Given the description of an element on the screen output the (x, y) to click on. 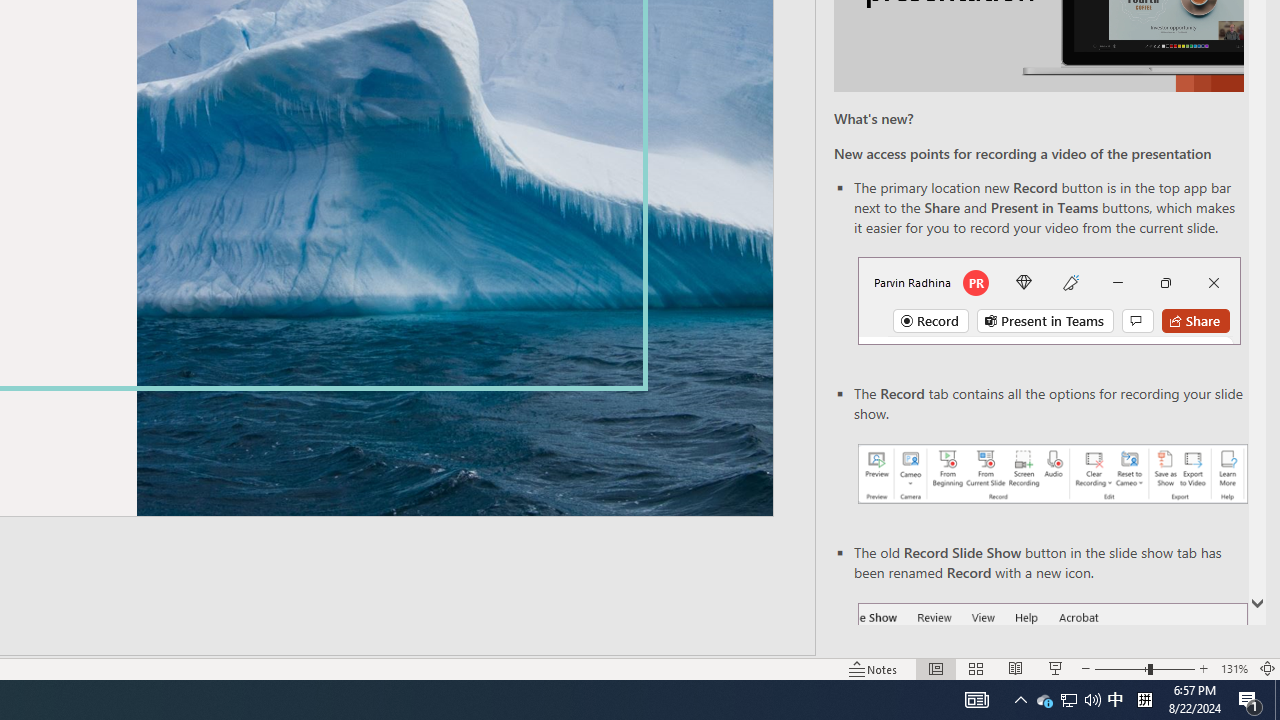
Record button in top bar (1049, 300)
Zoom 131% (1234, 668)
Record your presentations screenshot one (1052, 473)
